Given the description of an element on the screen output the (x, y) to click on. 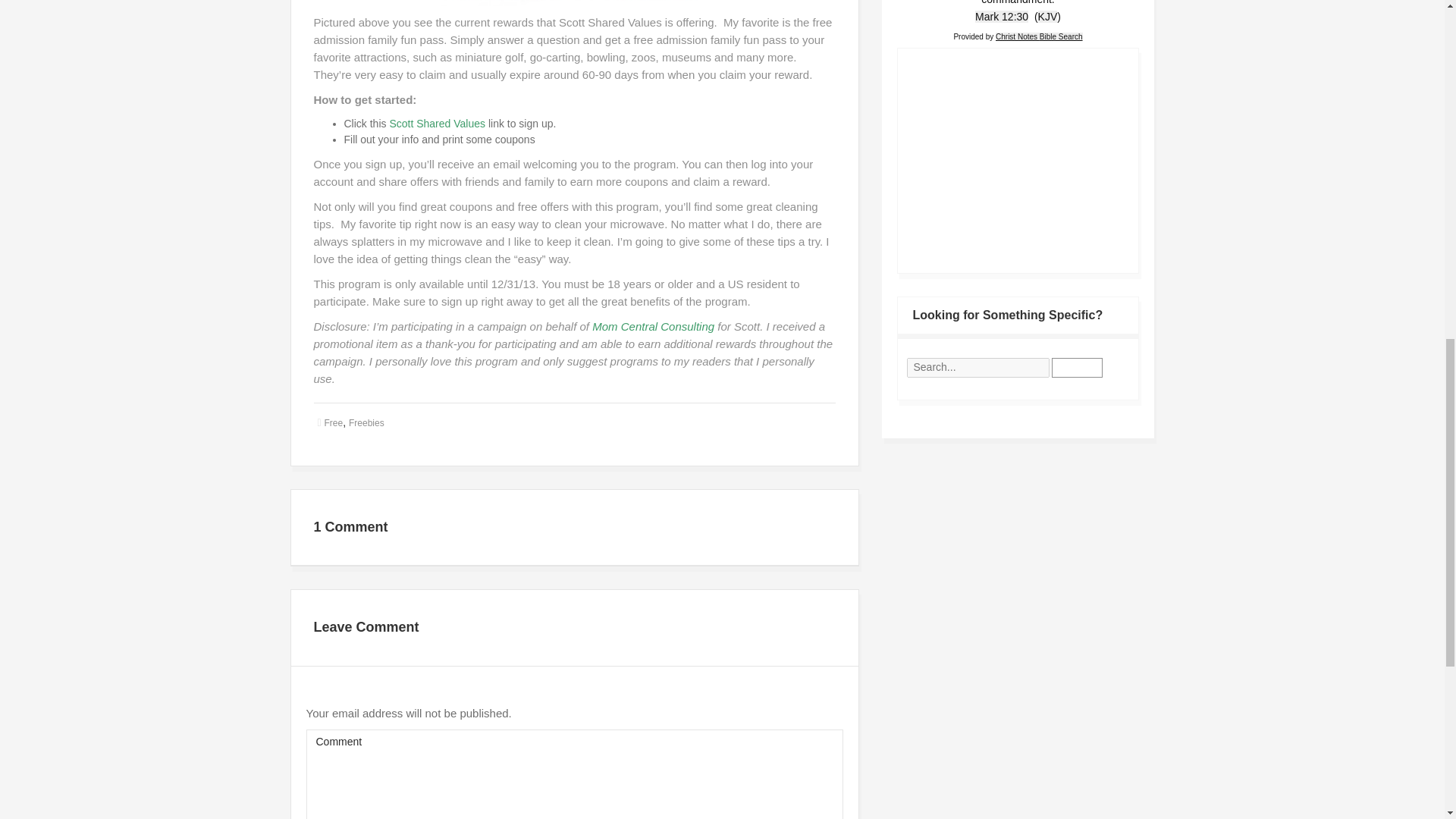
Search (1076, 367)
